Given the description of an element on the screen output the (x, y) to click on. 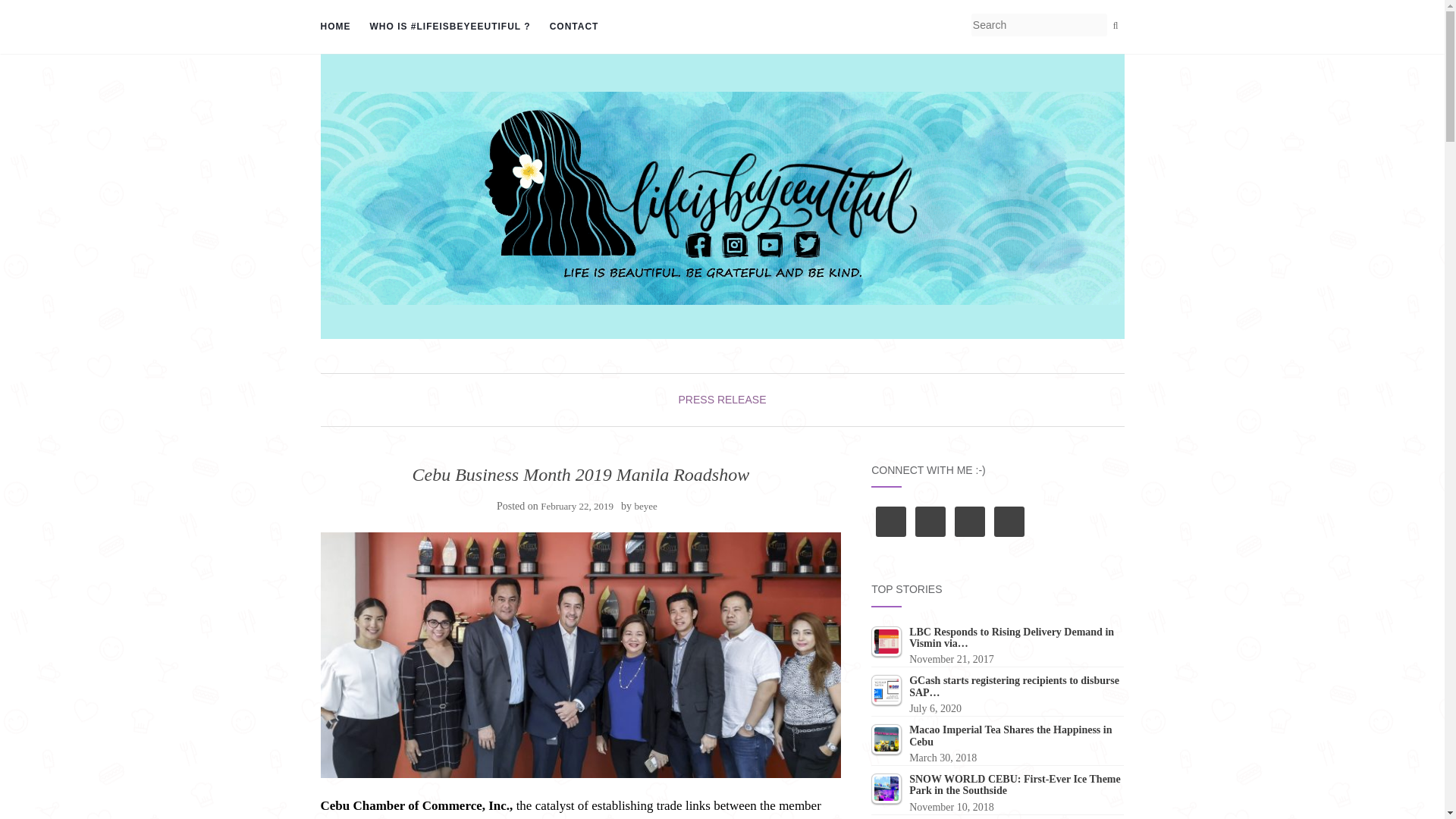
PRESS RELEASE (722, 399)
CONTACT (574, 27)
February 22, 2019 (576, 505)
Cebu Business Month 2019 Manila Roadshow (580, 655)
Contact (574, 27)
SNOW WORLD CEBU: First-Ever Ice Theme Park in the Southside (885, 788)
Home (335, 27)
HOME (335, 27)
Search (1115, 25)
Macao Imperial Tea Shares the Happiness in Cebu (885, 738)
Macao Imperial Tea Shares the Happiness in Cebu (997, 743)
beyee (644, 505)
